Given the description of an element on the screen output the (x, y) to click on. 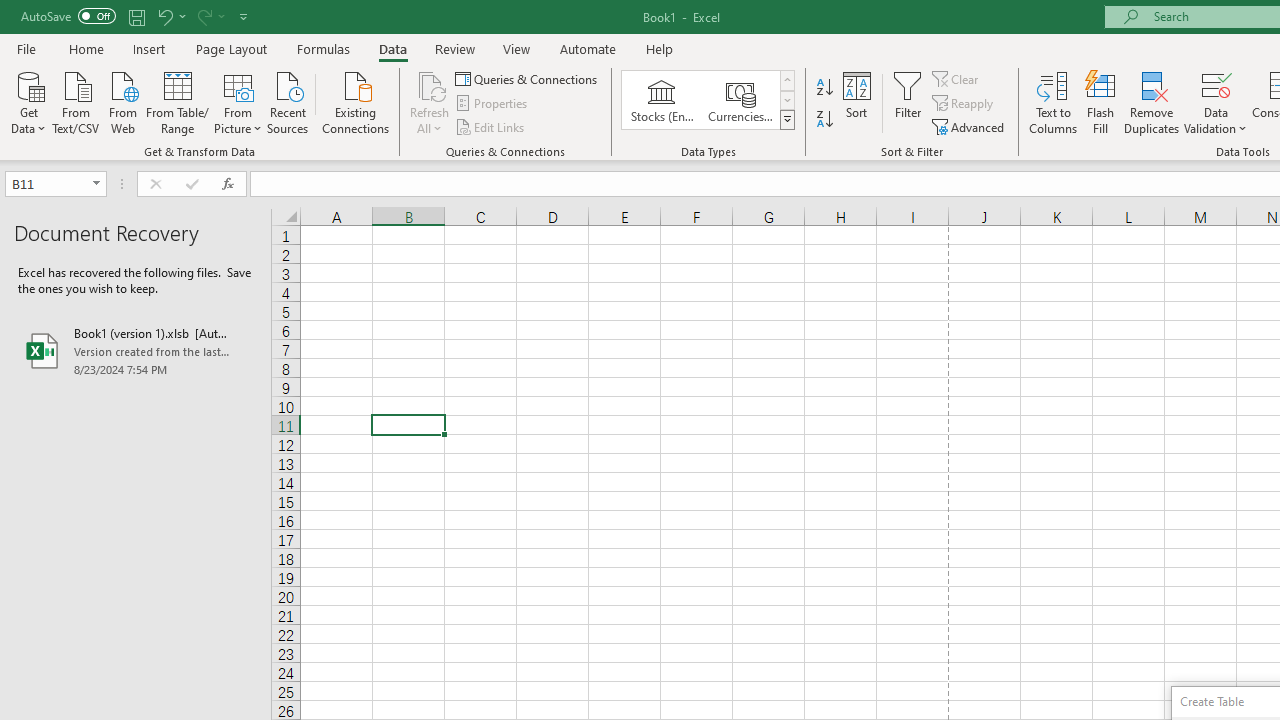
AutomationID: ConvertToLinkedEntity (708, 99)
Get Data (28, 101)
Class: NetUIImage (787, 119)
Clear (957, 78)
Advanced... (970, 126)
Automate (588, 48)
Home (86, 48)
Row Down (786, 100)
More Options (1215, 121)
Edit Links (491, 126)
Text to Columns... (1053, 102)
AutoSave (68, 16)
Existing Connections (355, 101)
Data (392, 48)
